Given the description of an element on the screen output the (x, y) to click on. 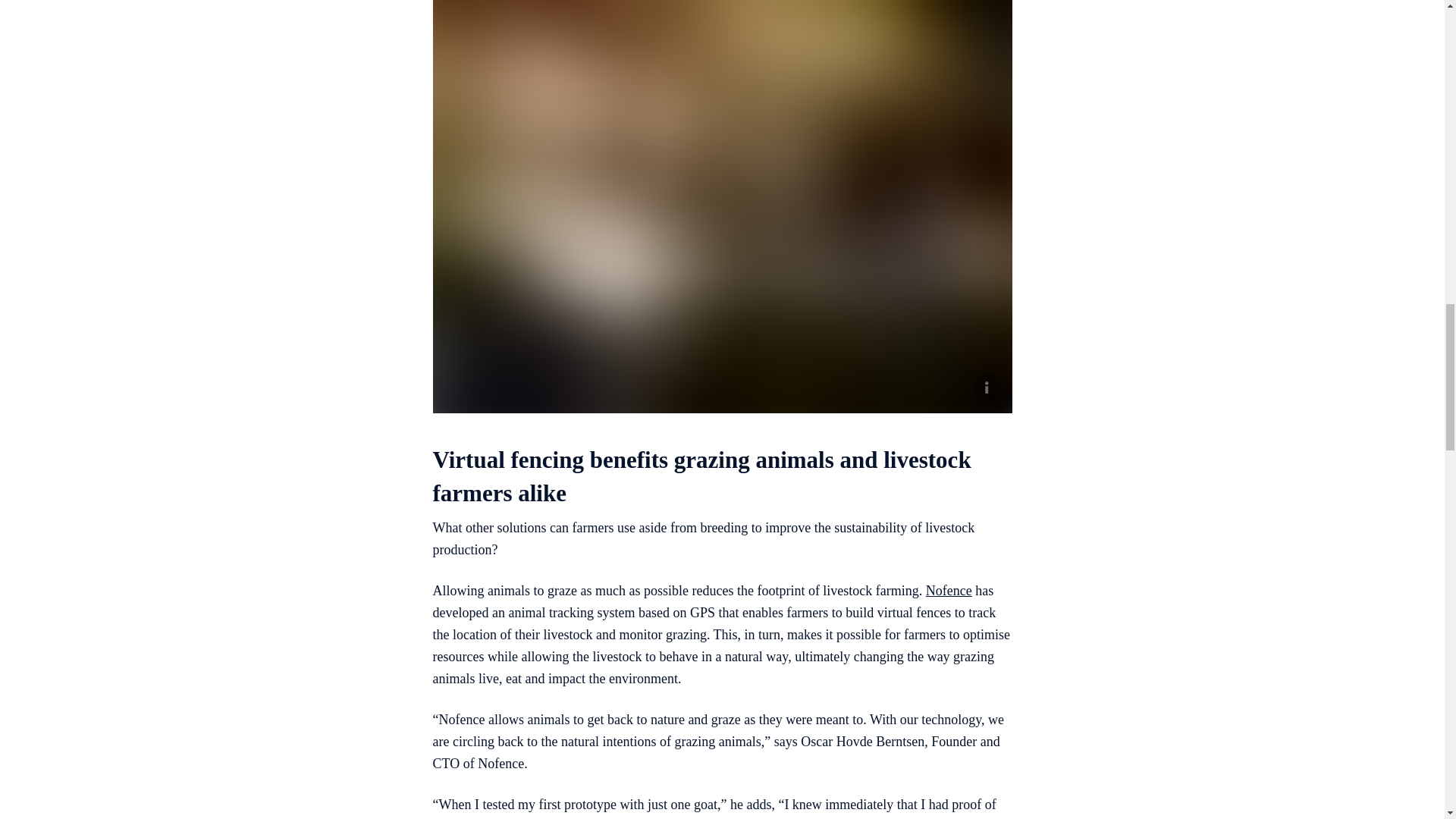
Nofence (949, 590)
